Given the description of an element on the screen output the (x, y) to click on. 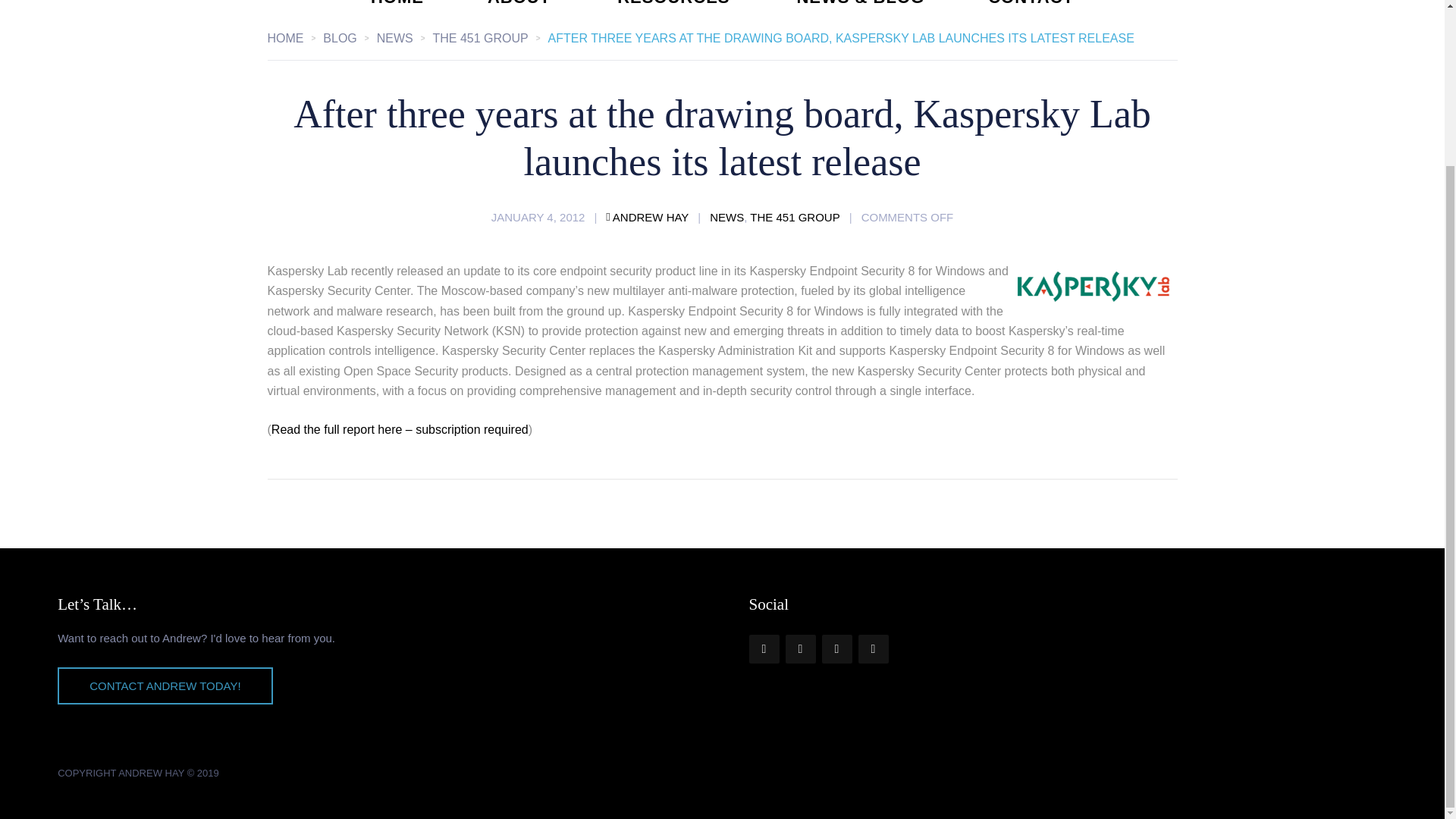
NEWS (727, 216)
Go to the News Category archives. (404, 38)
ABOUT (520, 2)
CONTACT ANDREW TODAY! (165, 685)
RESOURCES (674, 2)
ANDREW HAY (646, 216)
Go to Blog. (349, 38)
NEWS (404, 38)
HOME (294, 38)
THE 451 GROUP (489, 38)
BLOG (349, 38)
Go to the The 451 Group Category archives. (489, 38)
CONTACT (1030, 2)
THE 451 GROUP (794, 216)
HOME (397, 2)
